Given the description of an element on the screen output the (x, y) to click on. 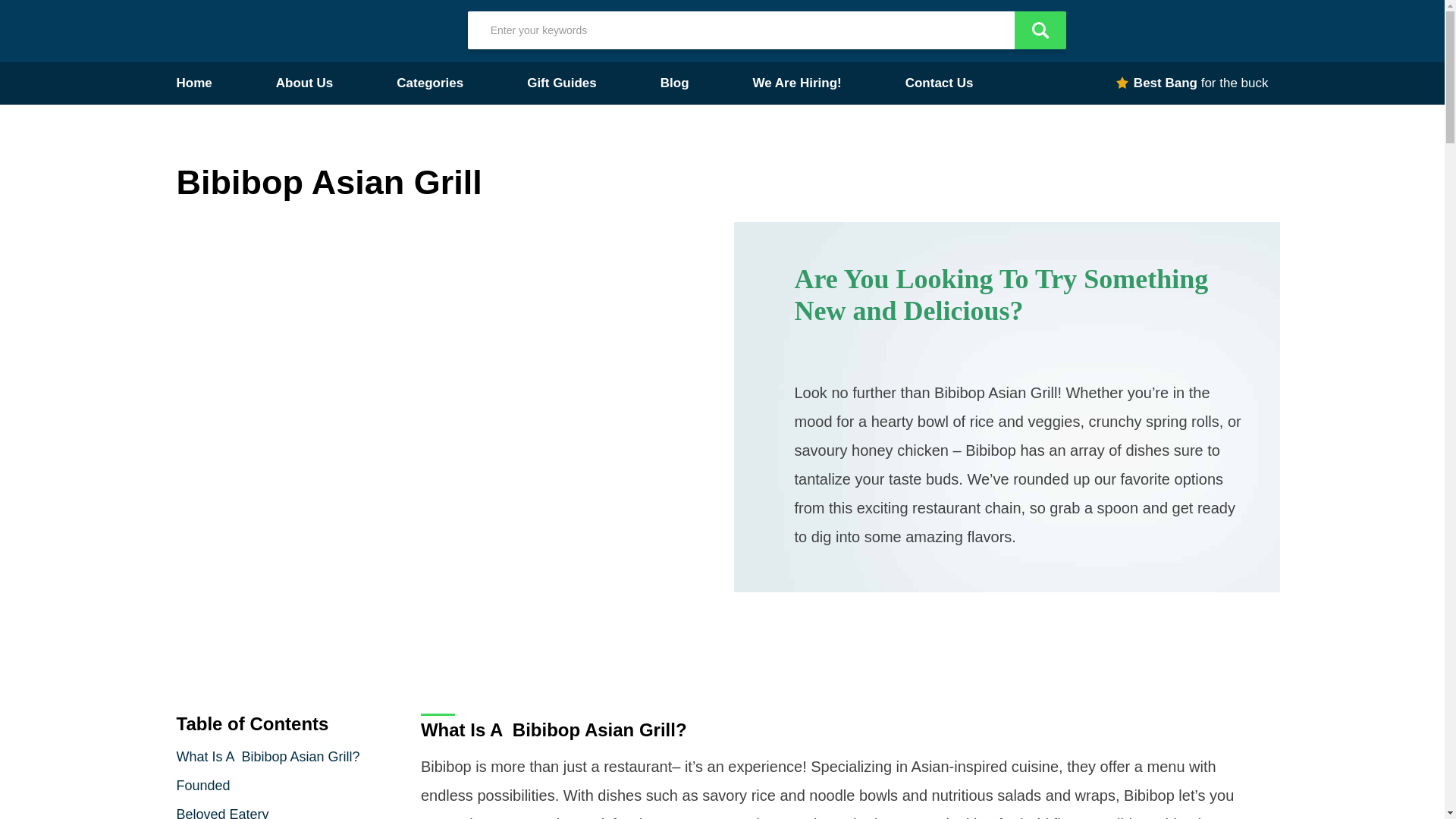
About Us (304, 83)
Founded (203, 785)
Contact Us (939, 83)
Search (1039, 30)
We Are Hiring! (796, 83)
Beloved Eatery (221, 812)
Review Pronto (273, 30)
Categories (429, 83)
Search (1039, 30)
What Is A  Bibibop Asian Grill? (267, 756)
Gift Guides (561, 83)
